Given the description of an element on the screen output the (x, y) to click on. 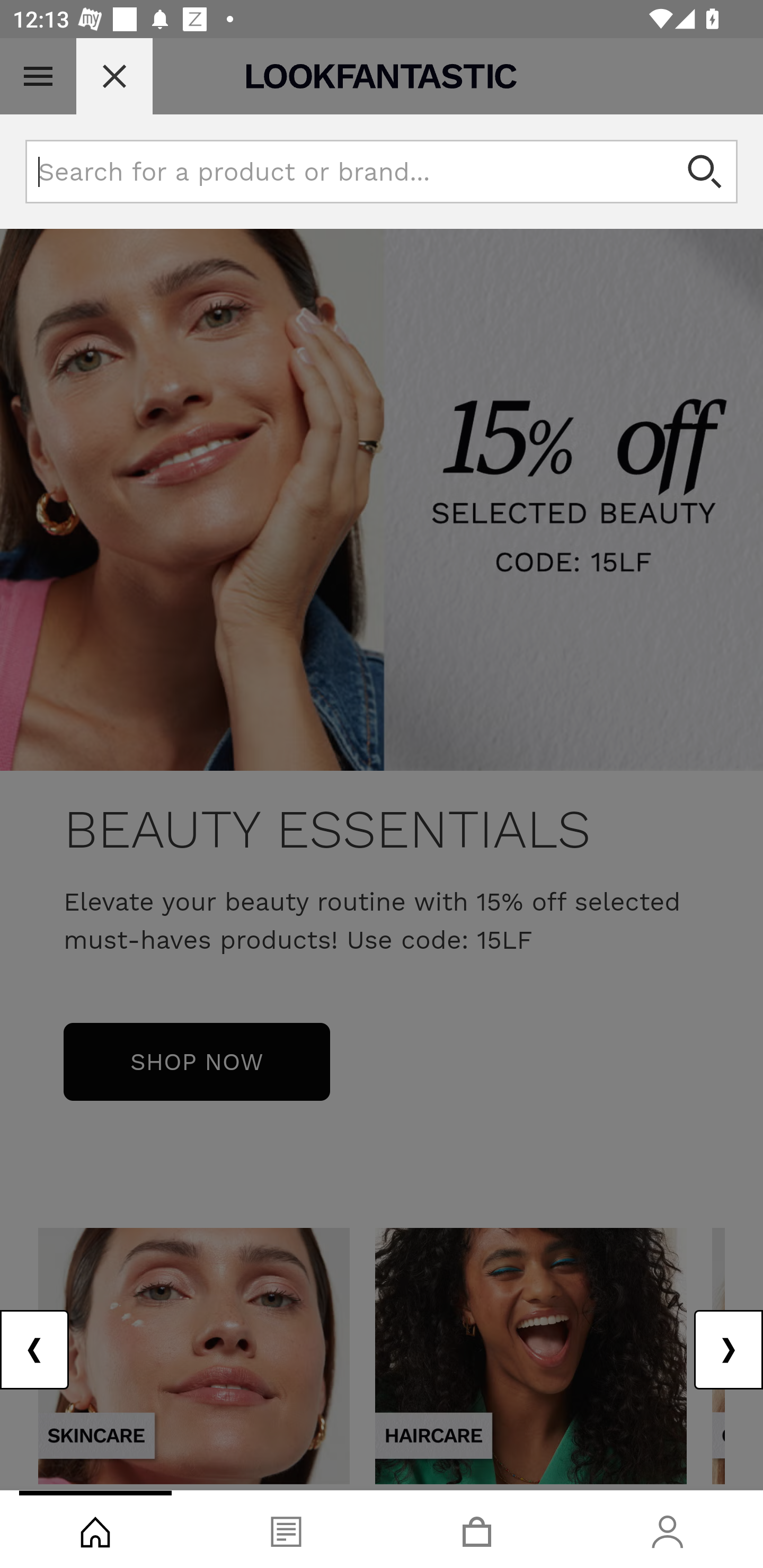
Close search (114, 75)
Start search (705, 171)
Previous (35, 1349)
Next (727, 1349)
Shop, tab, 1 of 4 (95, 1529)
Blog, tab, 2 of 4 (285, 1529)
Basket, tab, 3 of 4 (476, 1529)
Account, tab, 4 of 4 (667, 1529)
